Given the description of an element on the screen output the (x, y) to click on. 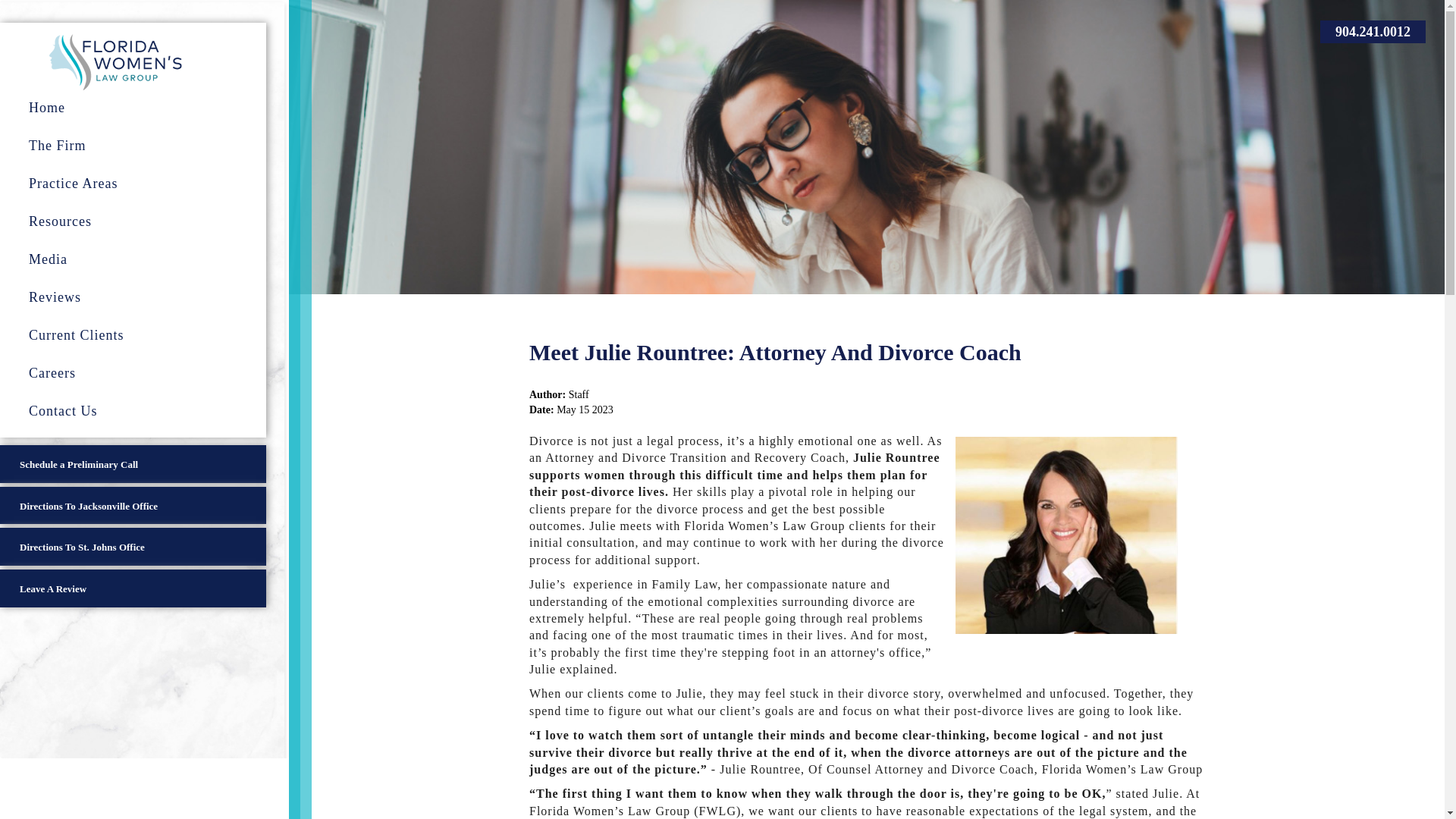
The Firm (142, 145)
Logo (115, 52)
Practice Areas (142, 183)
Home (142, 107)
